Given the description of an element on the screen output the (x, y) to click on. 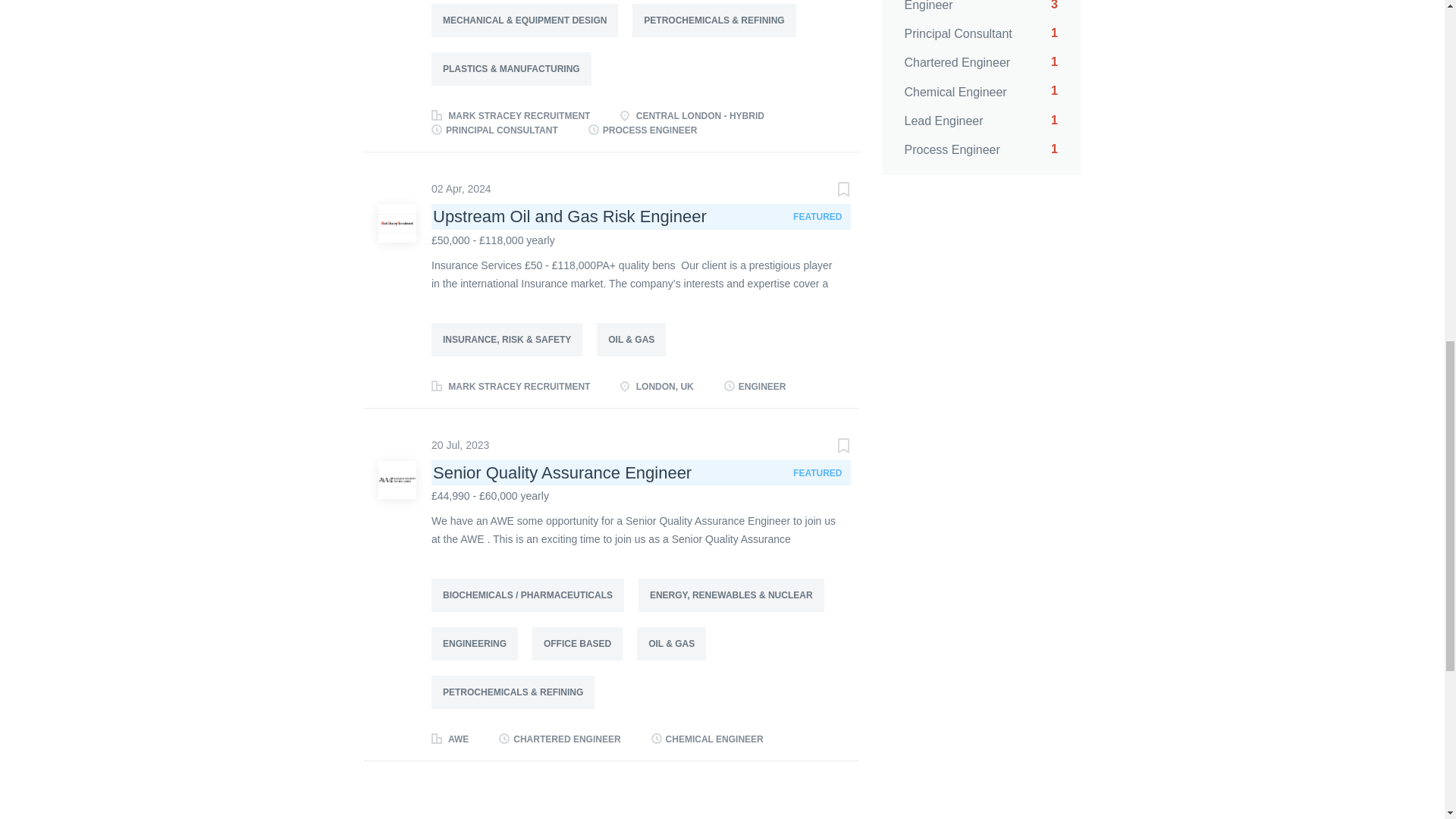
Save (980, 61)
Save (980, 32)
